Given the description of an element on the screen output the (x, y) to click on. 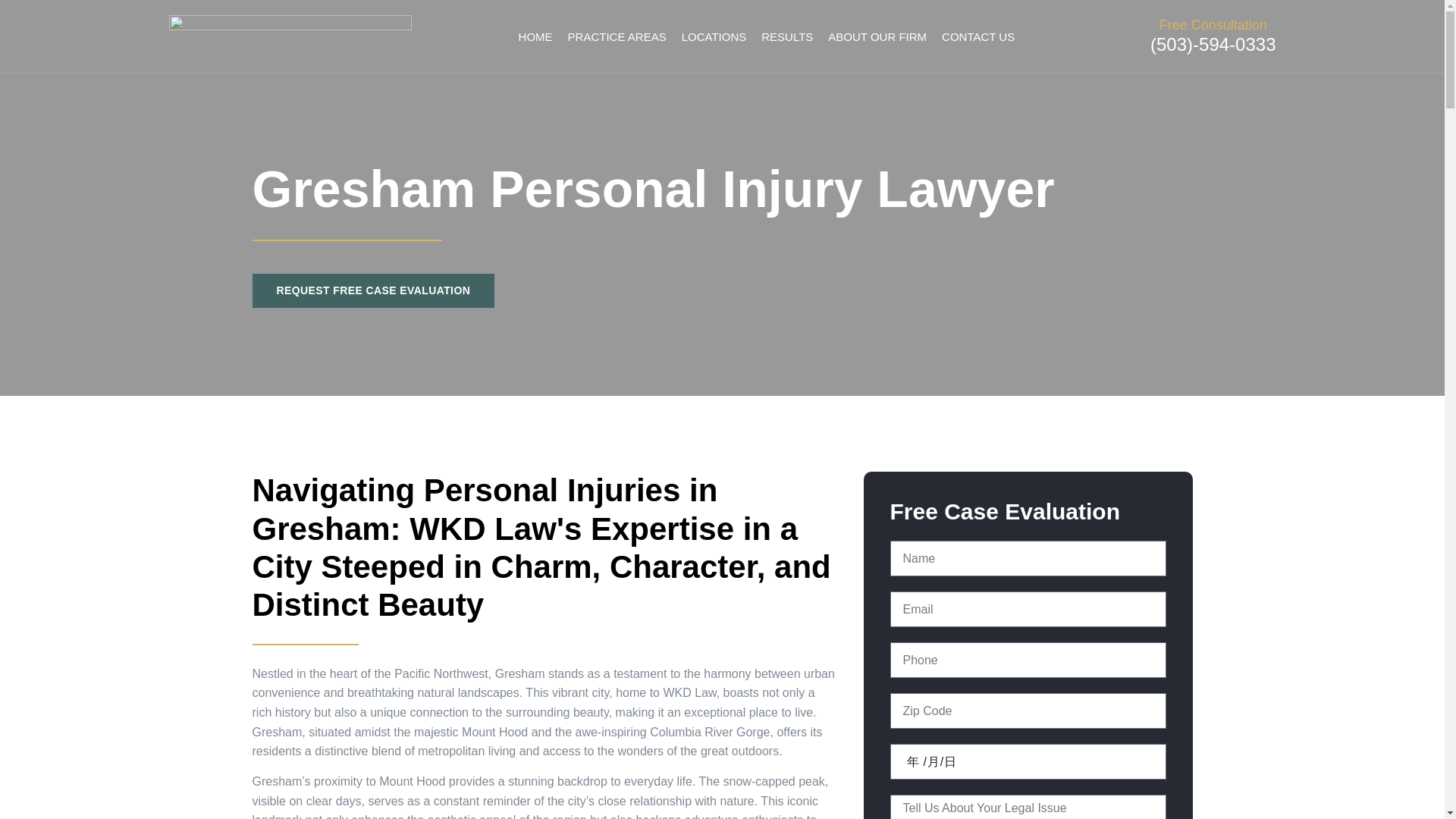
ABOUT OUR FIRM (877, 36)
RESULTS (786, 36)
CONTACT US (978, 36)
LOCATIONS (713, 36)
PRACTICE AREAS (616, 36)
HOME (535, 36)
